Given the description of an element on the screen output the (x, y) to click on. 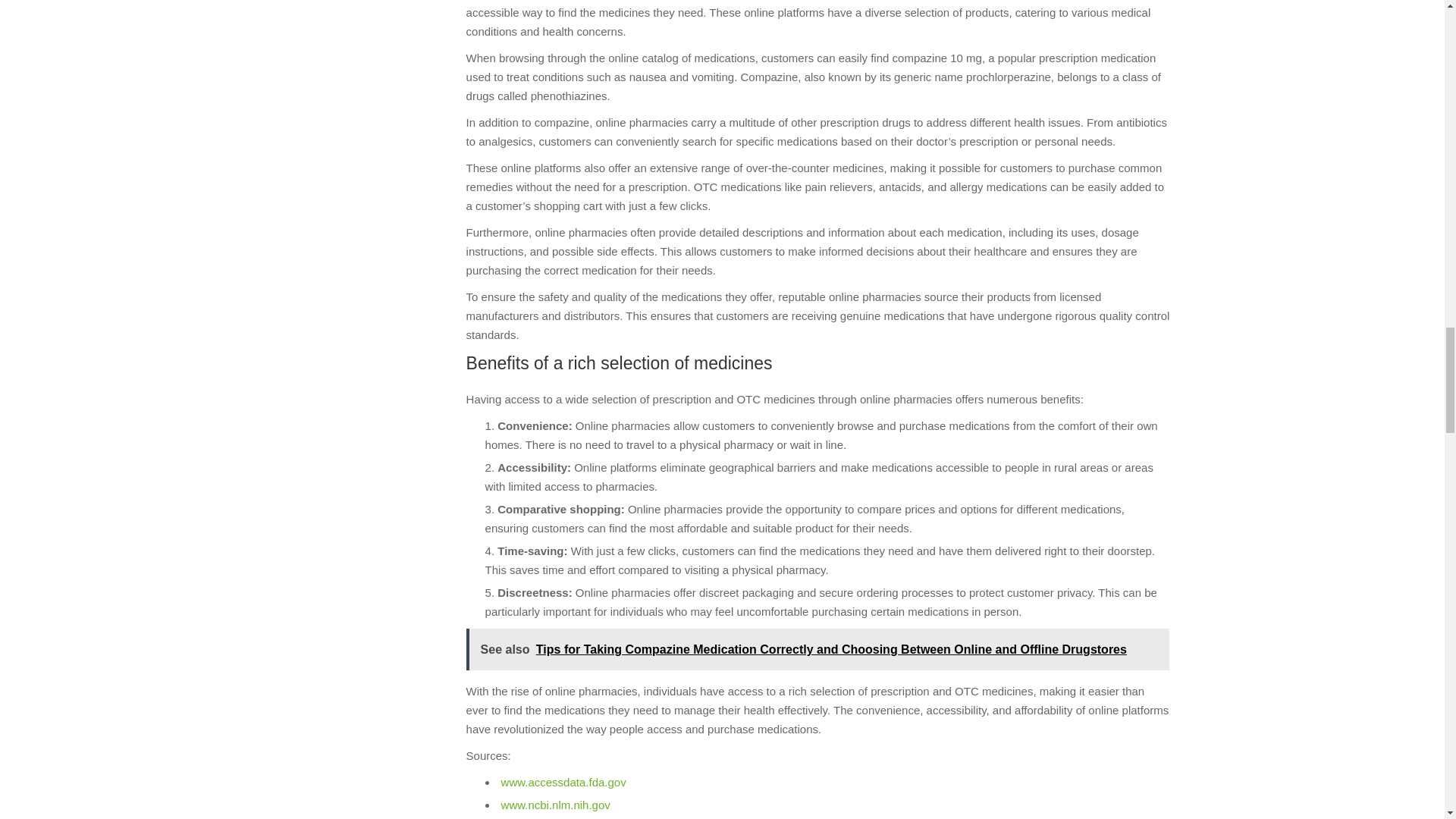
www.accessdata.fda.gov (563, 781)
www.ncbi.nlm.nih.gov (555, 804)
